Given the description of an element on the screen output the (x, y) to click on. 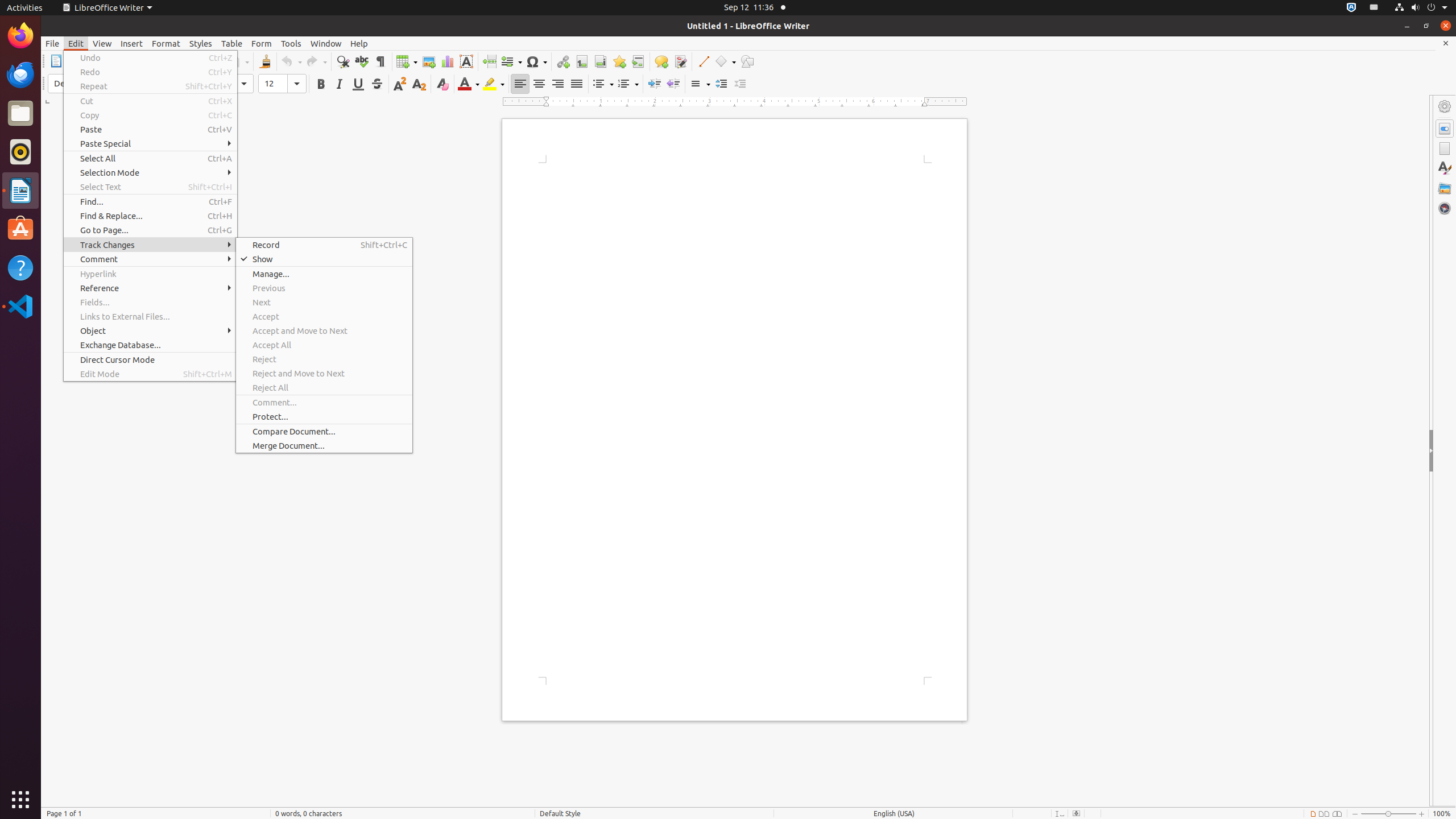
Hyperlink Element type: toggle-button (562, 61)
Files Element type: push-button (20, 113)
Center Element type: toggle-button (538, 83)
Highlight Color Element type: push-button (493, 83)
View Element type: menu (102, 43)
